Given the description of an element on the screen output the (x, y) to click on. 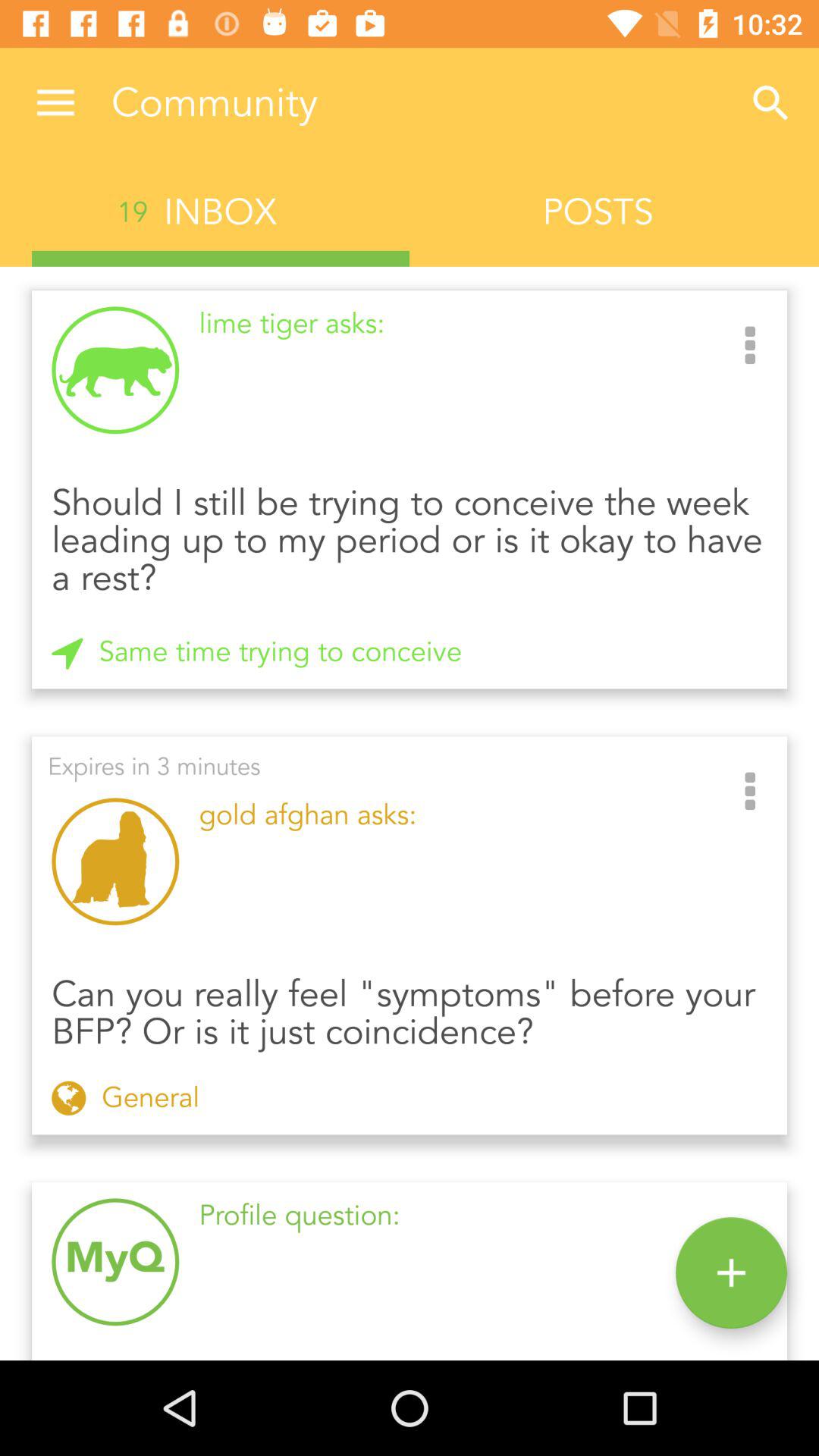
click item to the left of community item (55, 103)
